Given the description of an element on the screen output the (x, y) to click on. 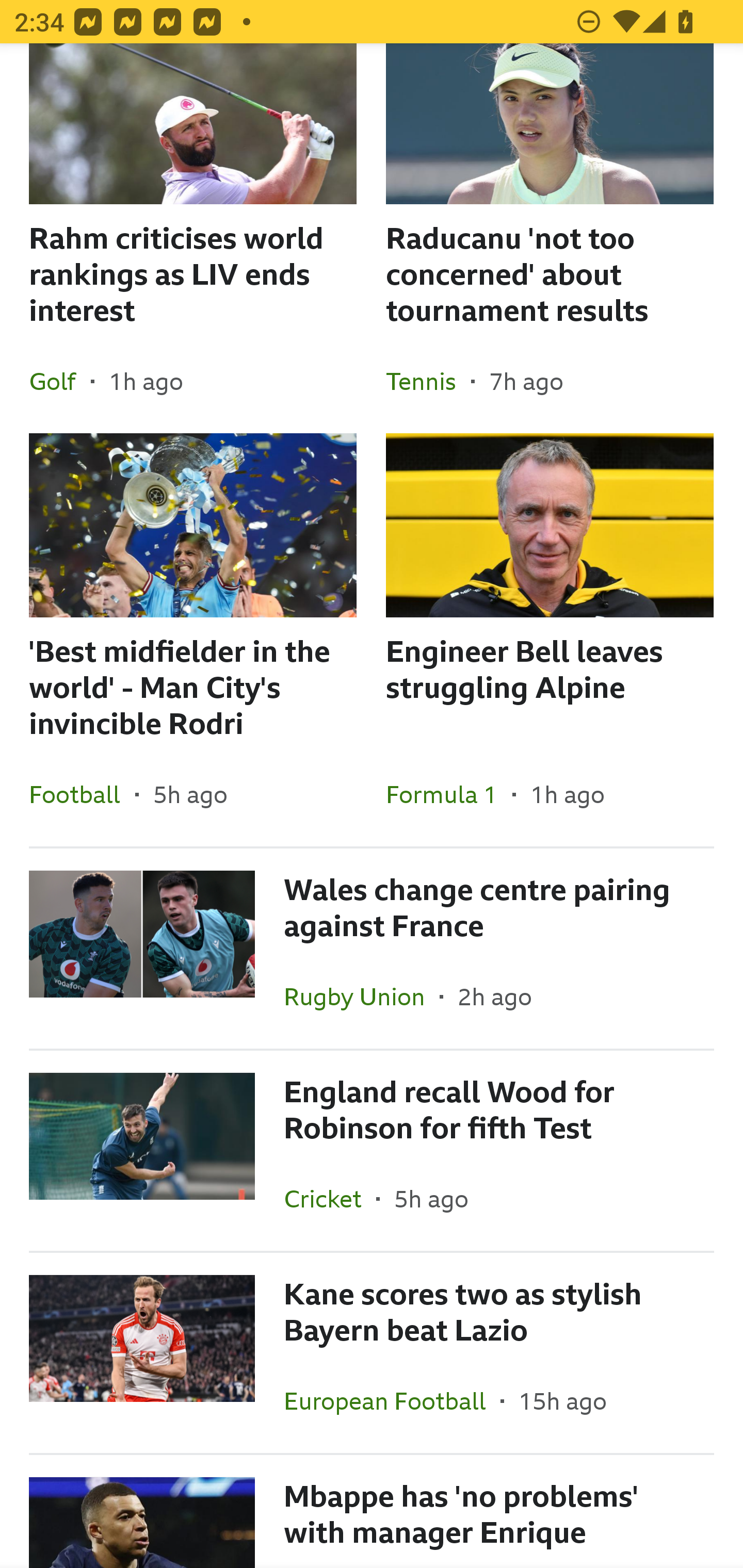
Golf In the section Golf (59, 380)
Tennis In the section Tennis (428, 380)
Football In the section Football (81, 793)
Formula 1 In the section Formula 1 (448, 793)
Rugby Union In the section Rugby Union (361, 995)
Cricket In the section Cricket (329, 1198)
European Football In the section European Football (391, 1400)
